Given the description of an element on the screen output the (x, y) to click on. 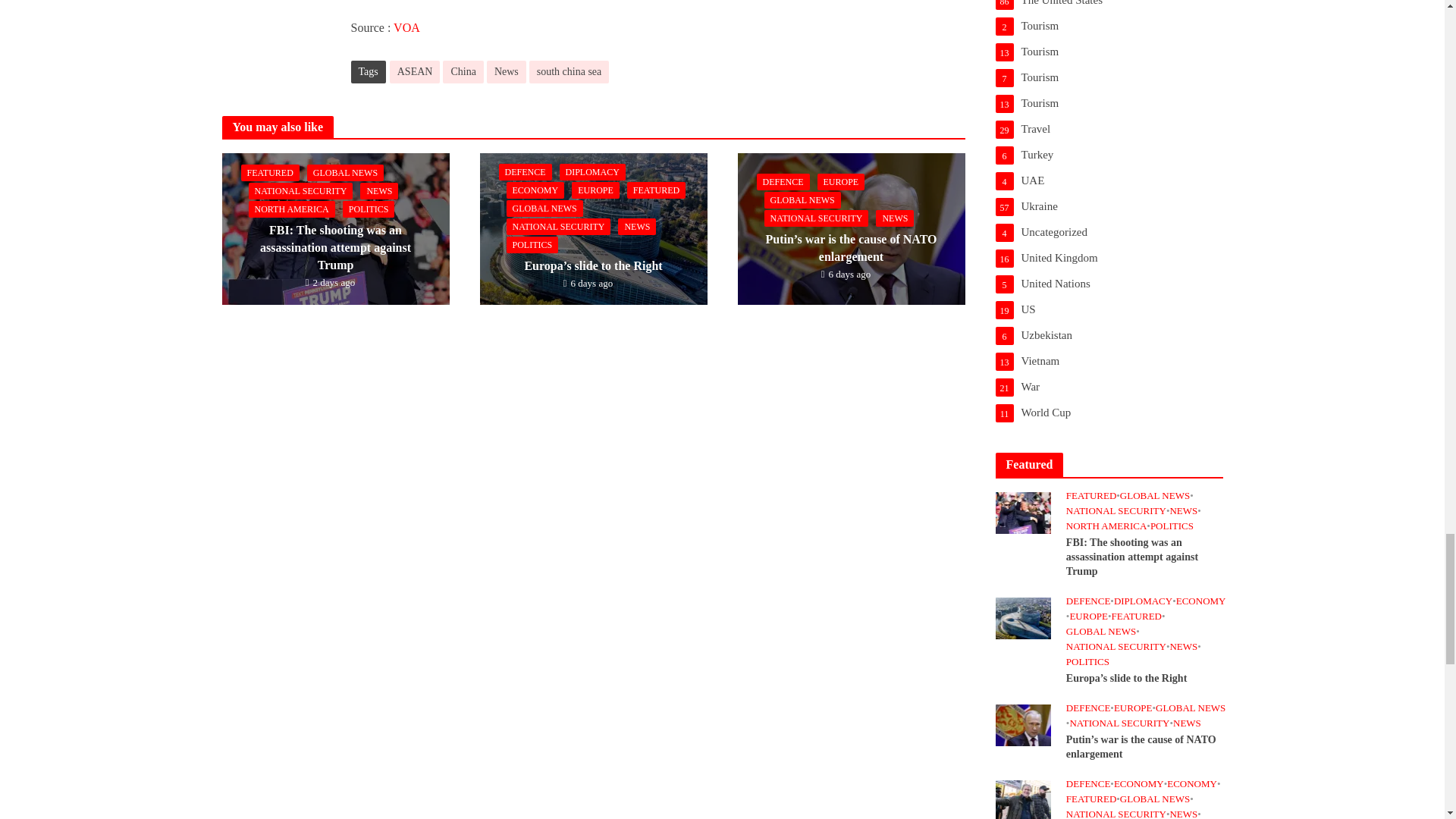
FBI: The shooting was an assassination attempt against Trump (1021, 511)
FBI: The shooting was an assassination attempt against Trump (334, 226)
